Given the description of an element on the screen output the (x, y) to click on. 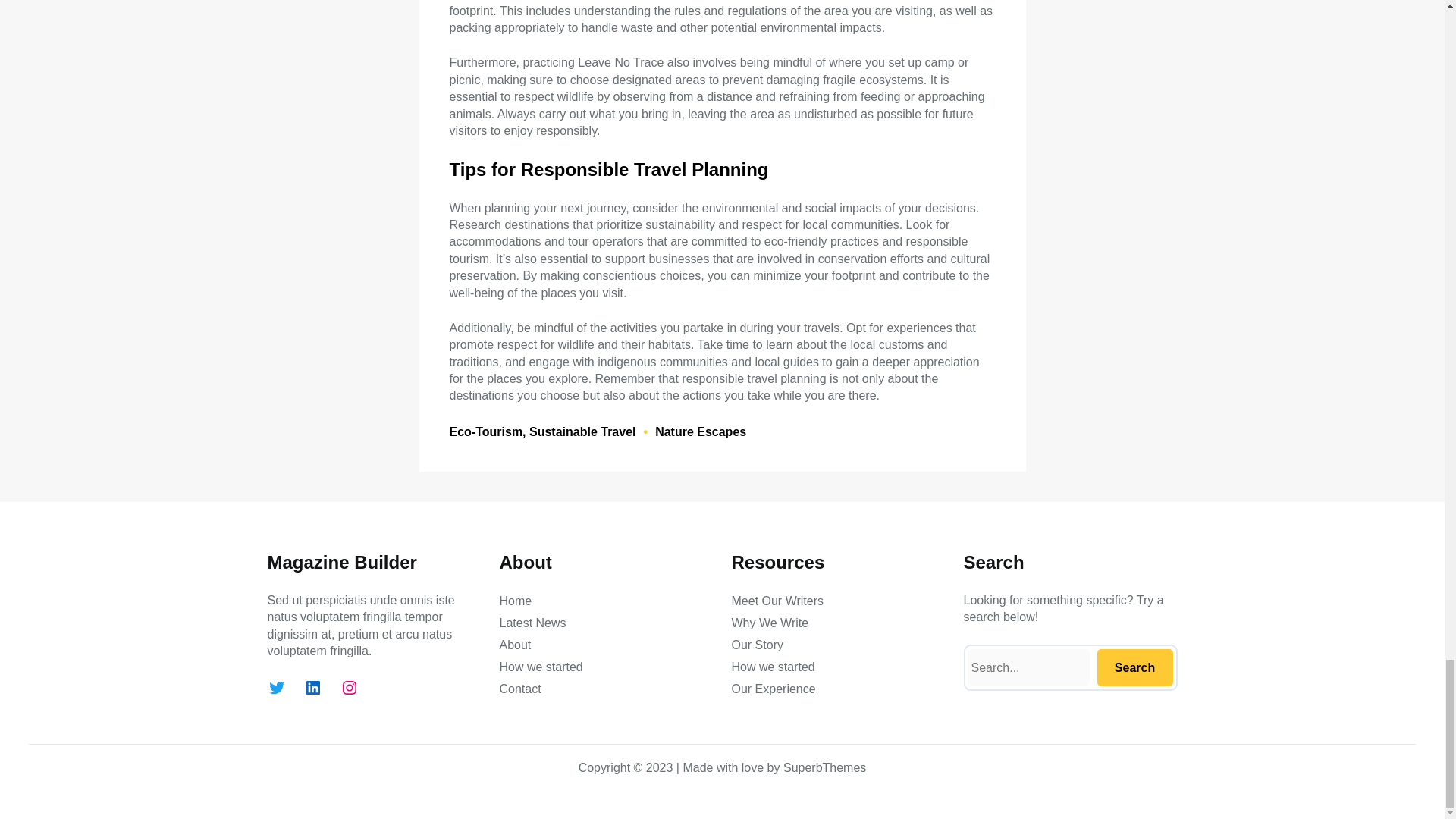
LinkedIn (311, 687)
Why We Write (769, 623)
Meet Our Writers (777, 601)
Our Story (756, 645)
Instagram (348, 687)
Our Experience (772, 689)
SuperbThemes (824, 767)
Sustainable Travel (582, 431)
Twitter (275, 687)
Eco-Tourism (485, 431)
